Given the description of an element on the screen output the (x, y) to click on. 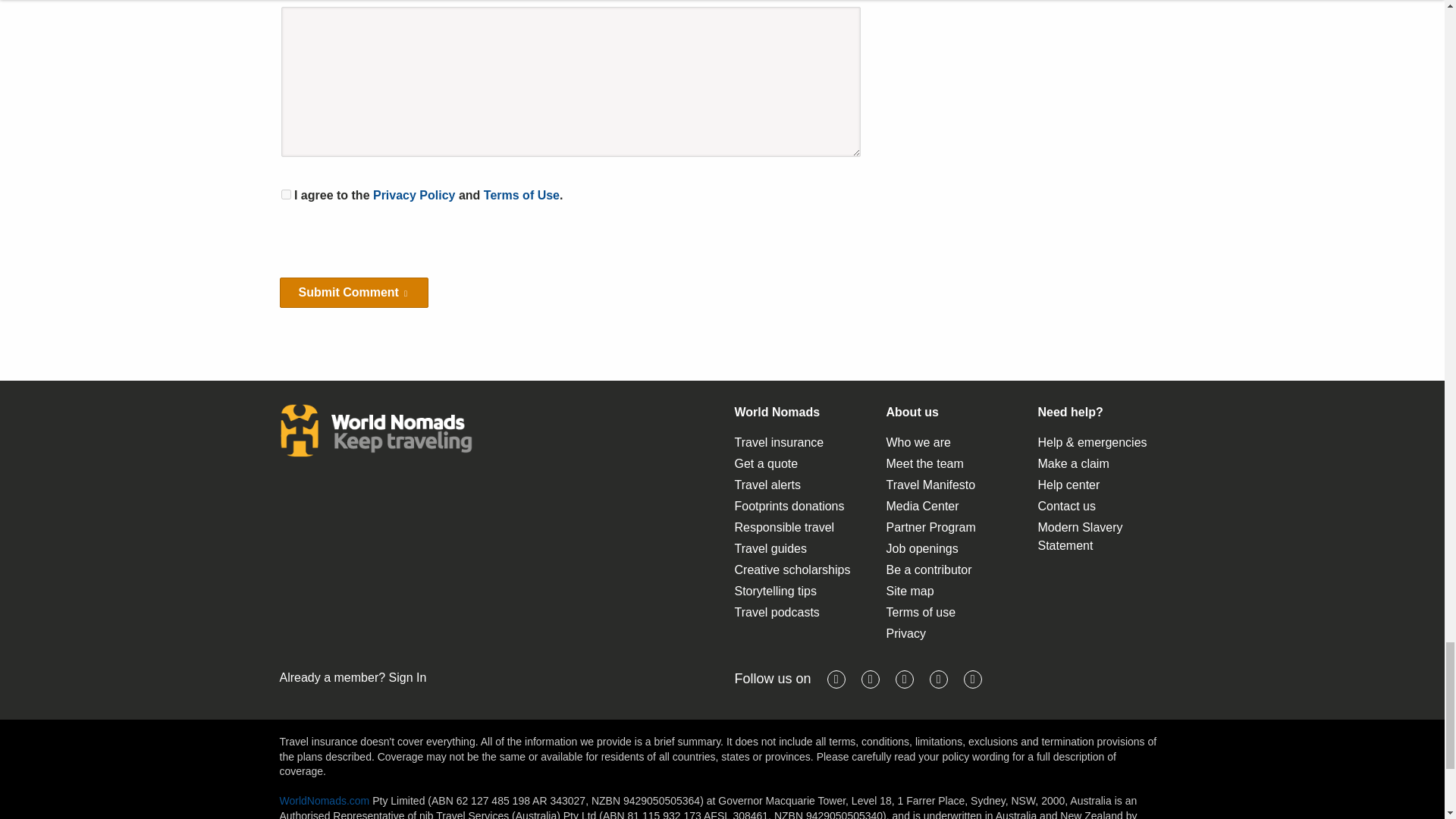
true (285, 194)
